Given the description of an element on the screen output the (x, y) to click on. 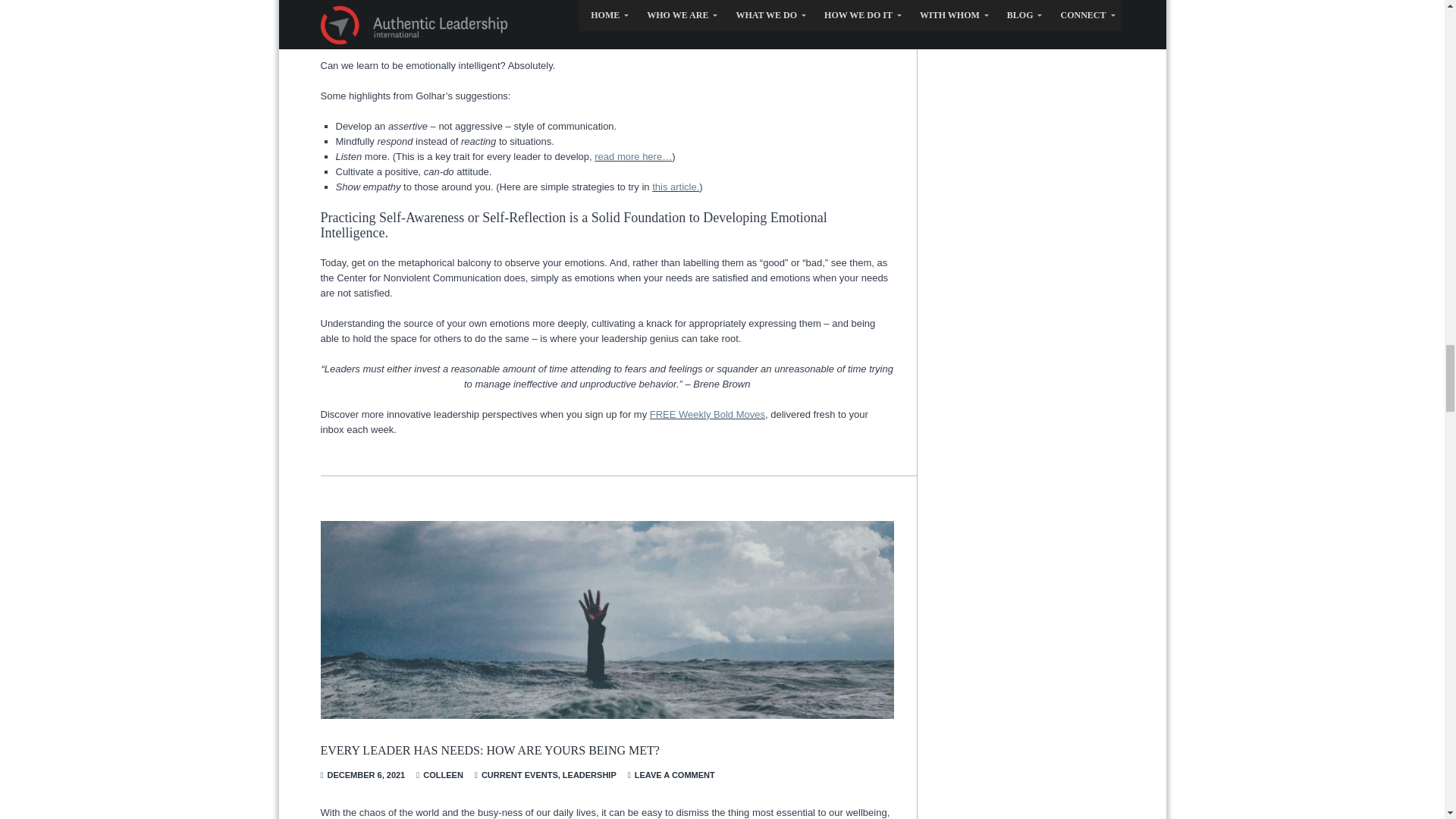
Colleen (443, 774)
Every leader has needs: How are yours being met? (606, 619)
